Given the description of an element on the screen output the (x, y) to click on. 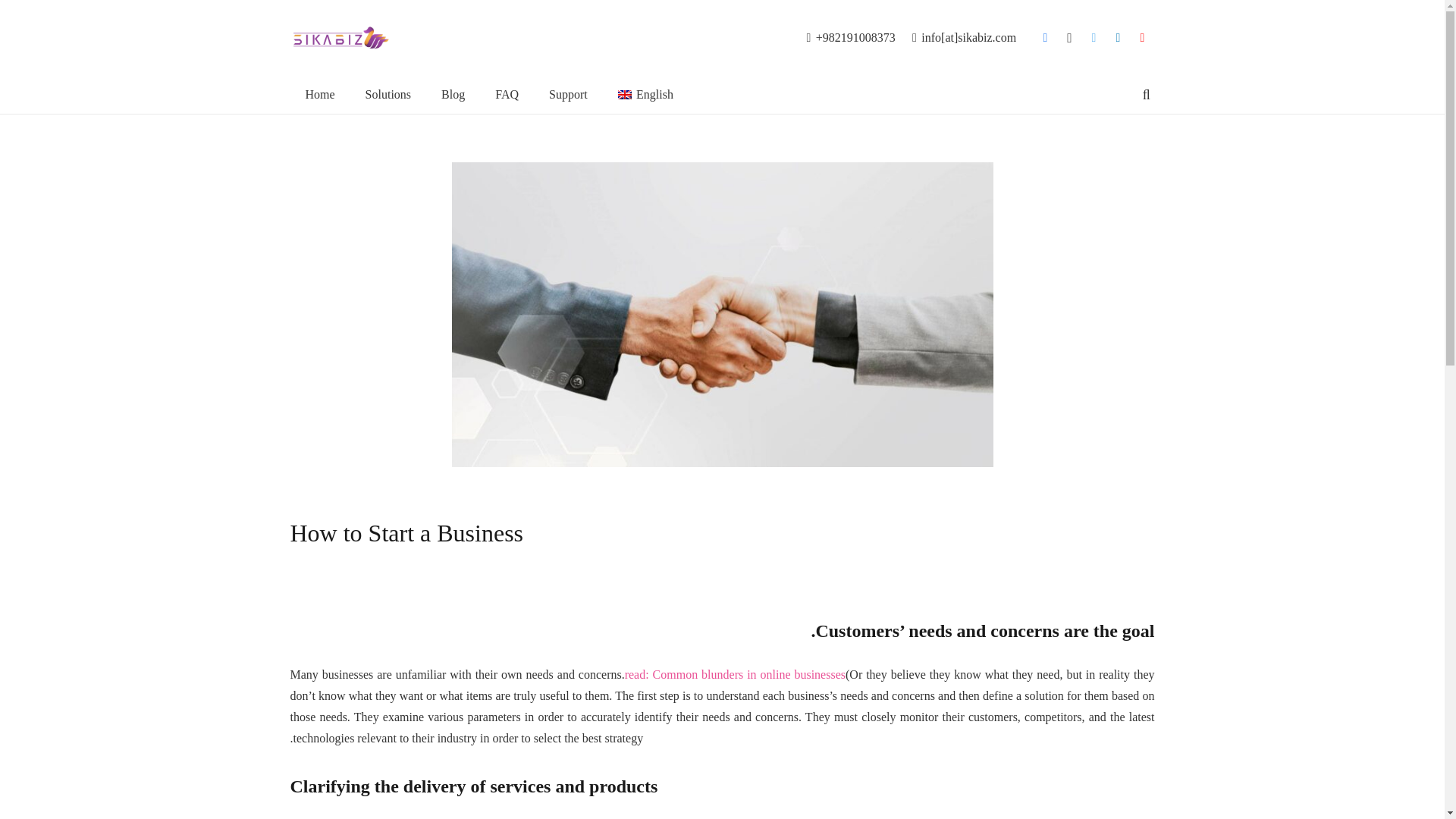
FAQ (507, 94)
Instagram (1069, 37)
LinkedIn (1118, 37)
Facebook (1045, 37)
English (645, 94)
YouTube (1142, 37)
Solutions (388, 94)
Twitter (1093, 37)
English (645, 94)
read: Common blunders in online businesses (734, 674)
Support (568, 94)
Blog (453, 94)
Home (319, 94)
